Given the description of an element on the screen output the (x, y) to click on. 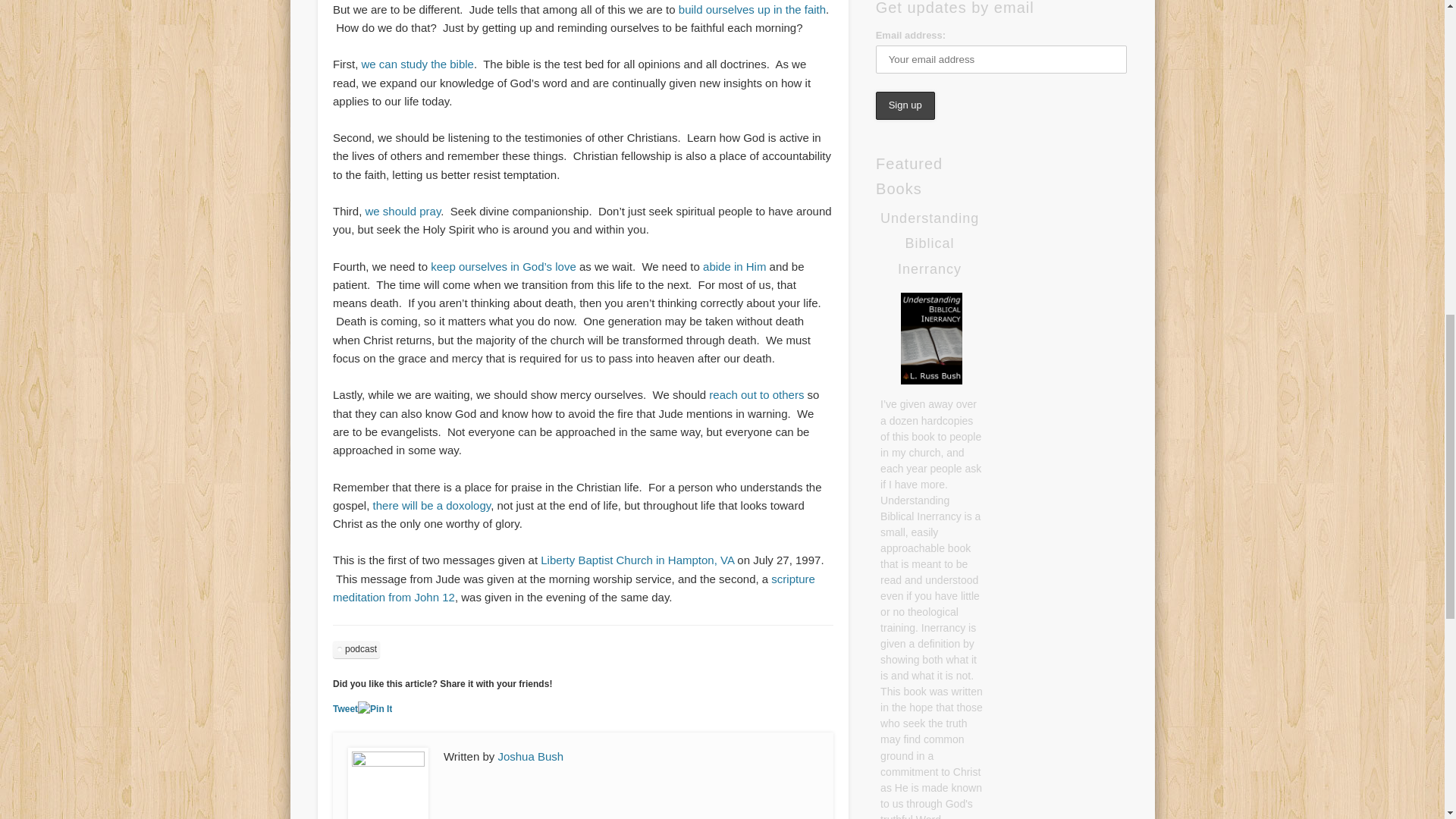
Jude 21 (502, 266)
abide in Him (733, 266)
we should pray (403, 210)
podcast (356, 649)
we can study the bible (417, 63)
Joshua Bush (530, 756)
Liberty Baptist Church in Hampton, VA (636, 559)
scripture meditation from John 12 (574, 587)
reach out to others (756, 394)
Jude 20 (751, 9)
build ourselves up in the faith (751, 9)
Jude 24-25 (432, 504)
Jude 17 (417, 63)
Jude 20 (403, 210)
John 15 (733, 266)
